Given the description of an element on the screen output the (x, y) to click on. 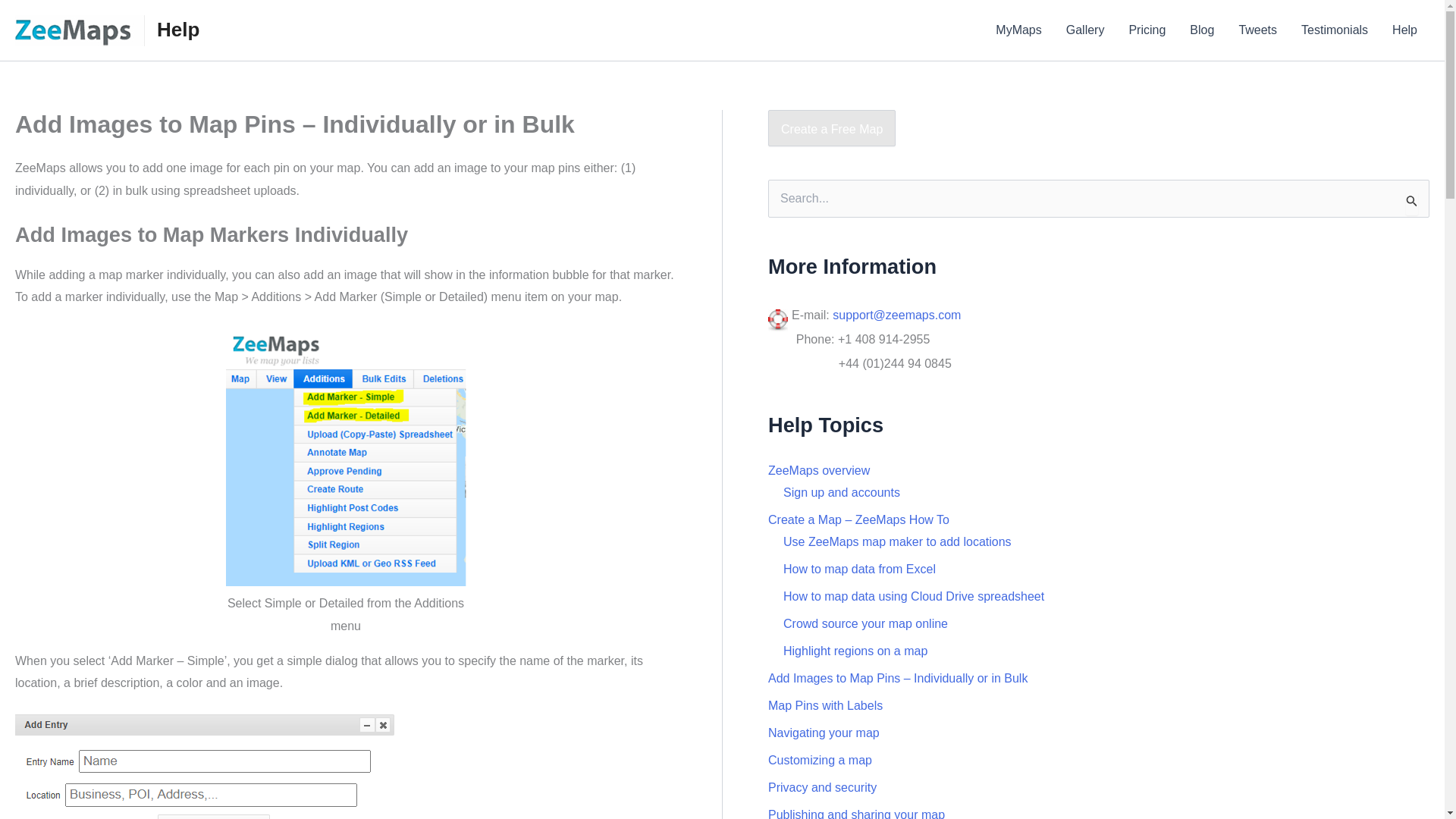
ZeeMaps overview (818, 470)
Testimonials (1334, 30)
Sign up and accounts (841, 492)
How to map data using Cloud Drive spreadsheet (913, 595)
How to map data from Excel (859, 568)
Use ZeeMaps map maker to add locations (897, 541)
Help (178, 29)
Map Pins with Labels (825, 705)
Navigating your map (823, 732)
Pricing (1146, 30)
